Given the description of an element on the screen output the (x, y) to click on. 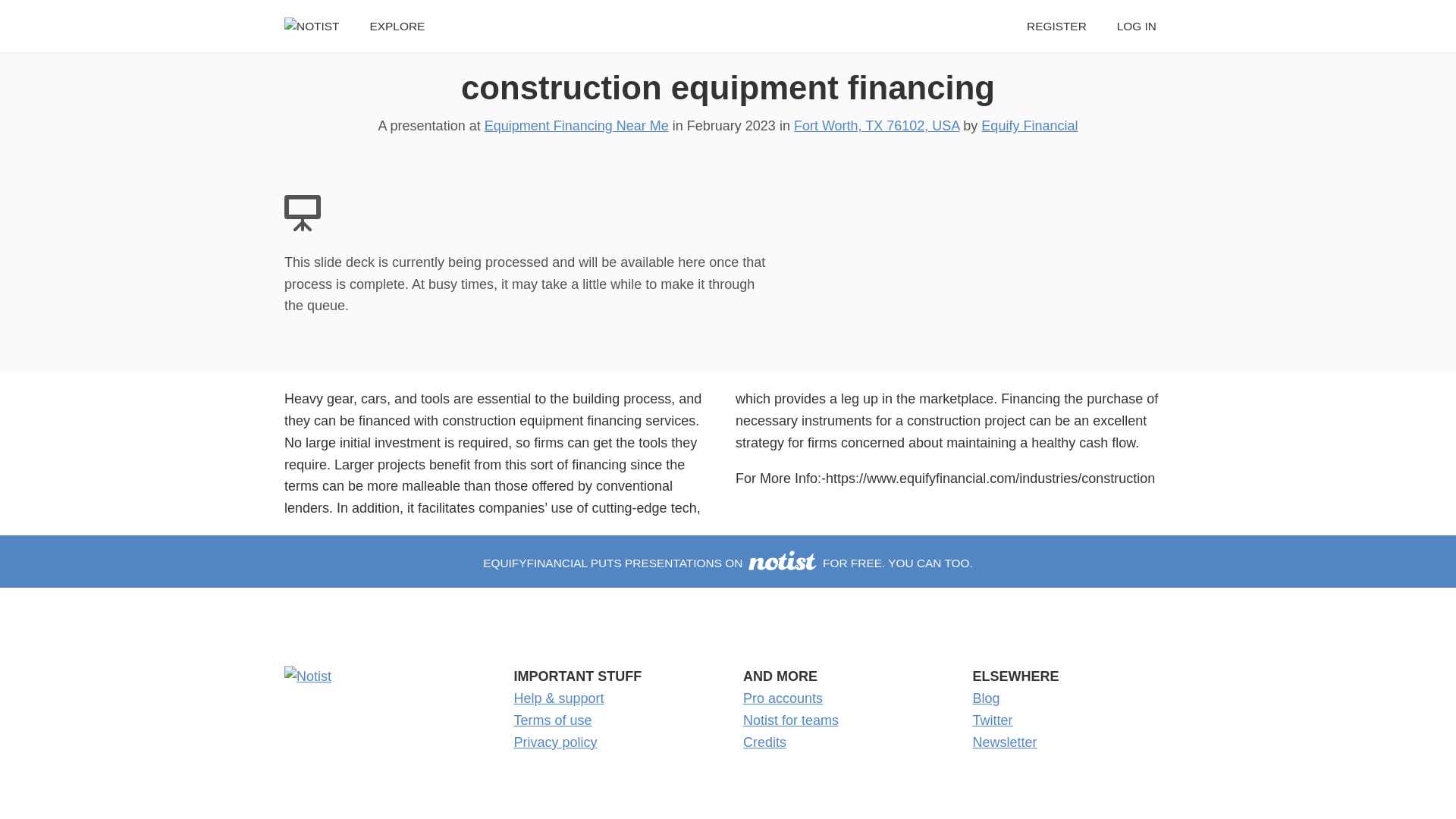
Privacy policy (554, 742)
construction equipment financing (727, 87)
Terms of use (552, 720)
Fort Worth, TX 76102, USA (876, 125)
Twitter (991, 720)
Pro accounts (782, 698)
Blog (985, 698)
Credits (764, 742)
REGISTER (1056, 25)
LOG IN (1136, 25)
EXPLORE (397, 25)
Newsletter (1004, 742)
Notist for teams (790, 720)
Equipment Financing Near Me (576, 125)
EQUIFYFINANCIAL PUTS PRESENTATIONS ON FOR FREE. YOU CAN TOO. (727, 562)
